Given the description of an element on the screen output the (x, y) to click on. 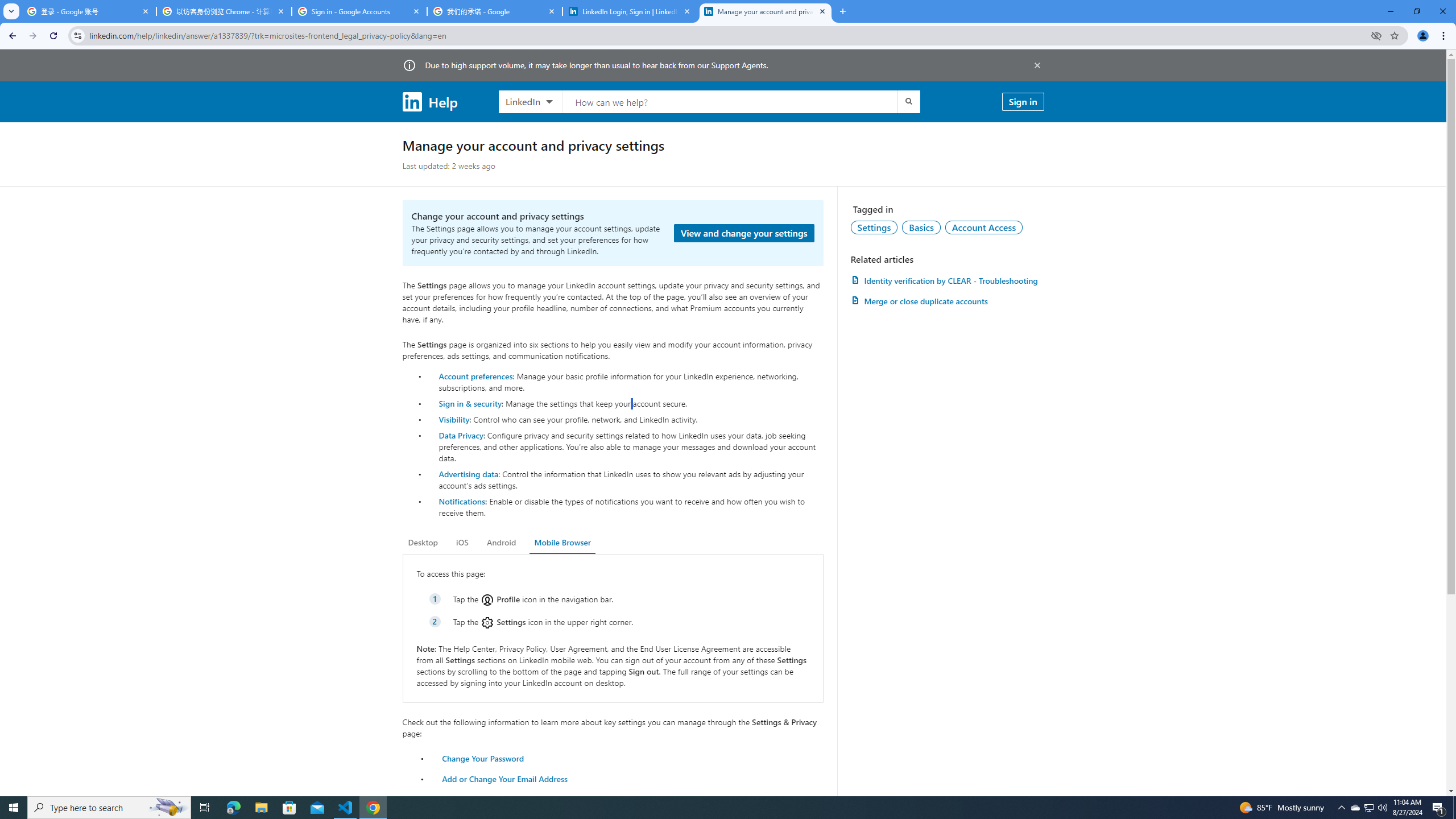
AutomationID: topic-link-a149001 (874, 227)
Advertising data (468, 473)
Add or Change Your Email Address (504, 778)
Data Privacy (460, 434)
Submit search (908, 101)
Android (501, 542)
Sign in - Google Accounts (359, 11)
Visibility (454, 419)
Identity verification by CLEAR - Troubleshooting (946, 280)
AutomationID: topic-link-a51 (921, 227)
